Given the description of an element on the screen output the (x, y) to click on. 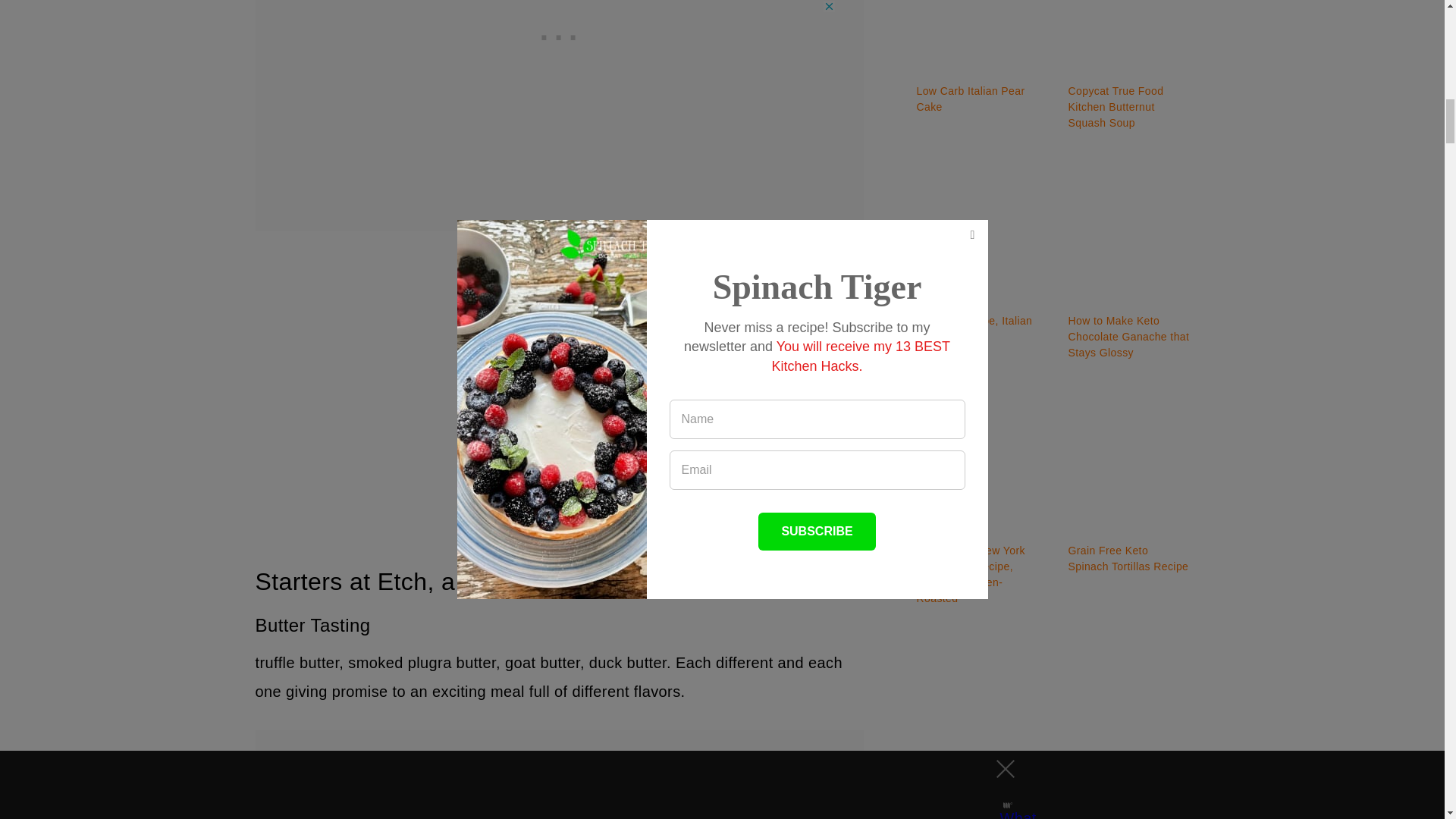
3rd party ad content (558, 774)
3rd party ad content (1052, 728)
